Given the description of an element on the screen output the (x, y) to click on. 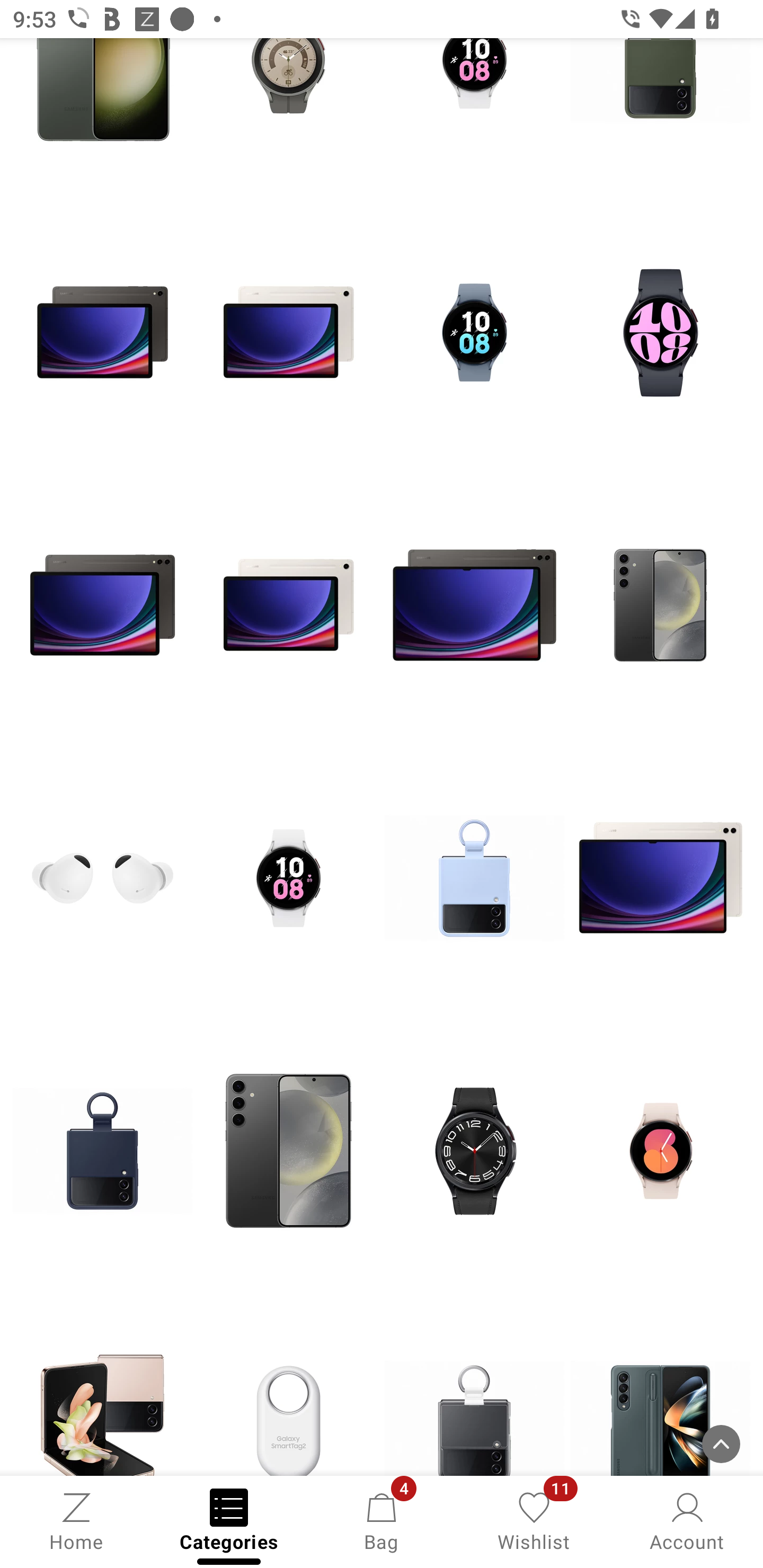
Home (76, 1519)
Bag, 4 new notifications Bag (381, 1519)
Wishlist, 11 new notifications Wishlist (533, 1519)
Account (686, 1519)
